Given the description of an element on the screen output the (x, y) to click on. 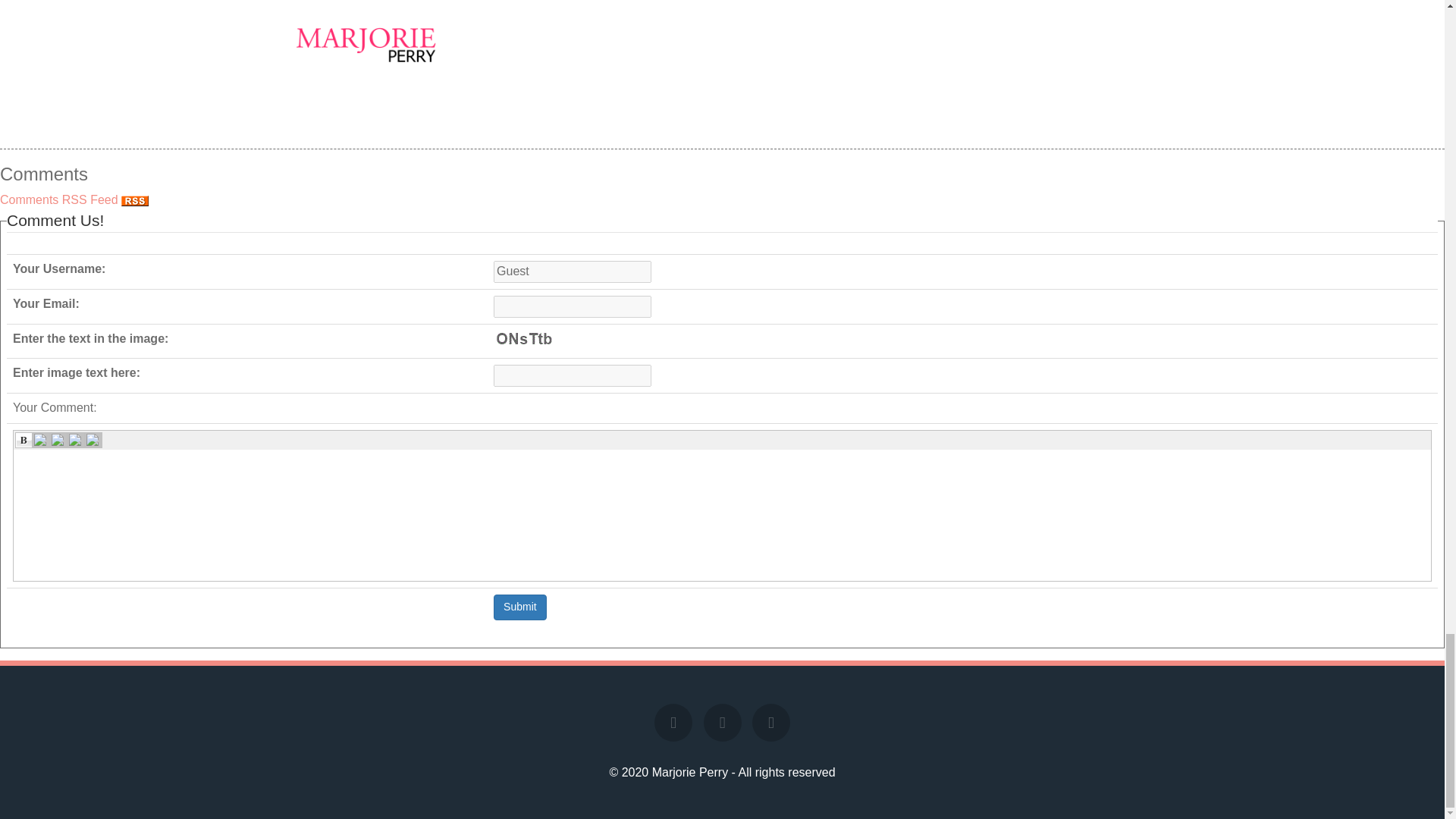
Guest (571, 271)
Submit (520, 606)
Submit (520, 606)
The text to enter in the texbox below is: ONsTtb (523, 339)
Comments RSS Feed (74, 199)
Subscribe to our Comments RSS Feed (134, 200)
